Given the description of an element on the screen output the (x, y) to click on. 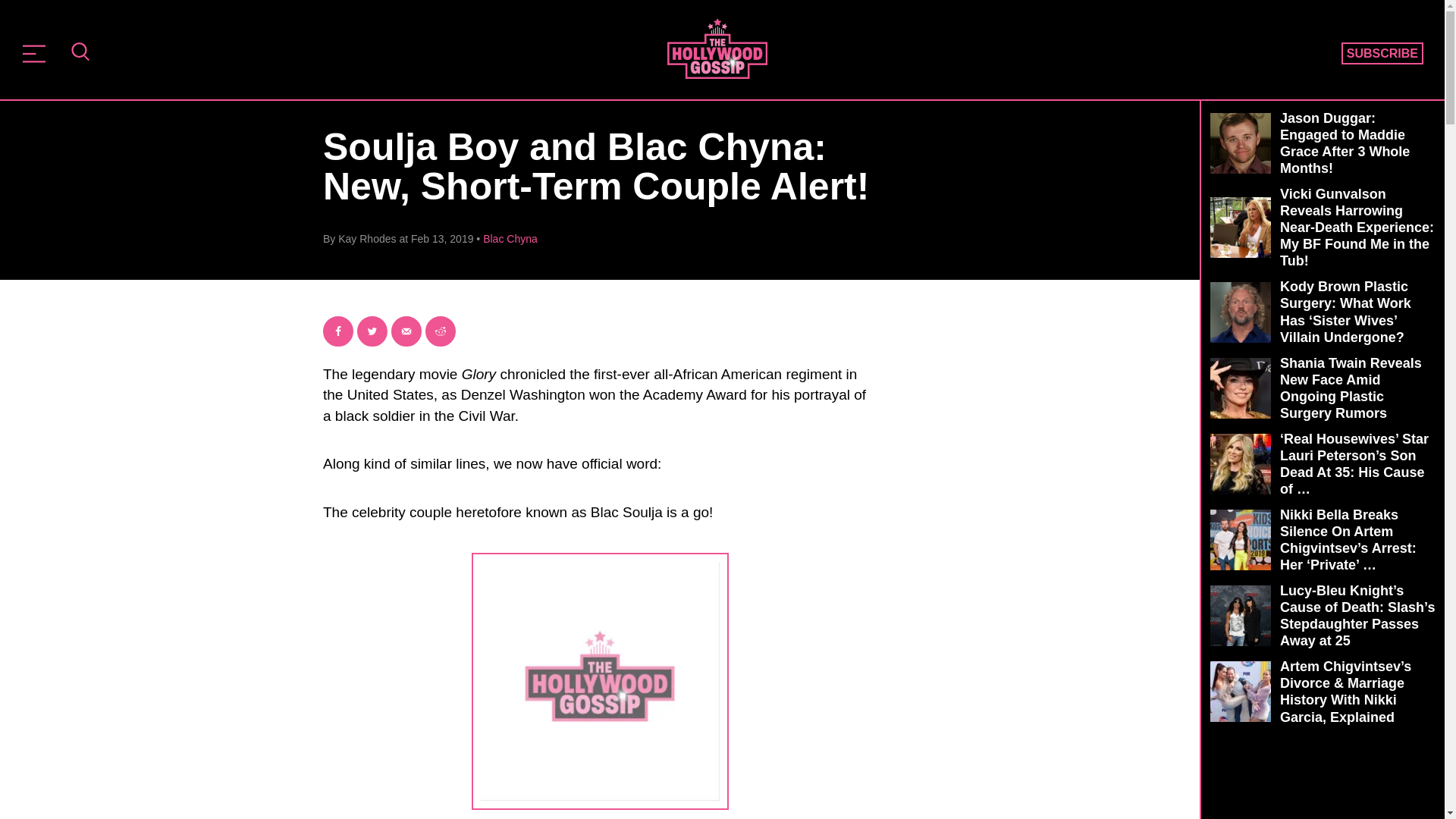
SEARCH (79, 53)
Send over email (406, 331)
SUBSCRIBE (1381, 53)
Blac Chyna (510, 238)
Share on Twitter (371, 331)
Share on Facebook (338, 331)
The Hollywood Gossip (716, 48)
Share on Reddit (440, 331)
Jason Duggar: Engaged to Maddie Grace After 3 Whole Months! (1322, 142)
